Given the description of an element on the screen output the (x, y) to click on. 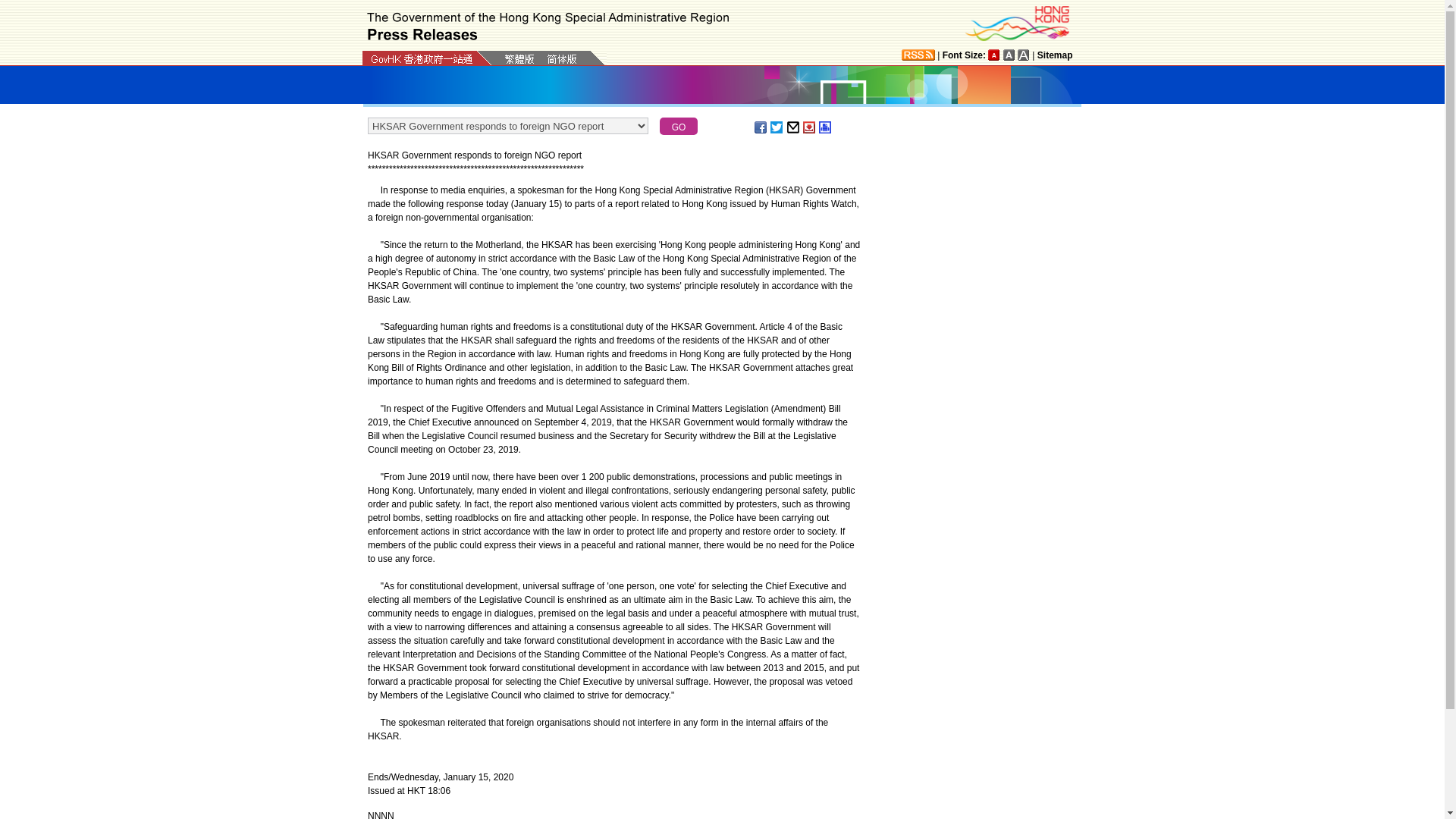
Traditional Chinese (519, 58)
Email (793, 127)
Save (809, 127)
Simplified Chinese (561, 59)
GO (678, 126)
Share on Twitter (777, 127)
Largest font size (1023, 54)
Larger font size (1008, 54)
Sitemap (1054, 54)
